Given the description of an element on the screen output the (x, y) to click on. 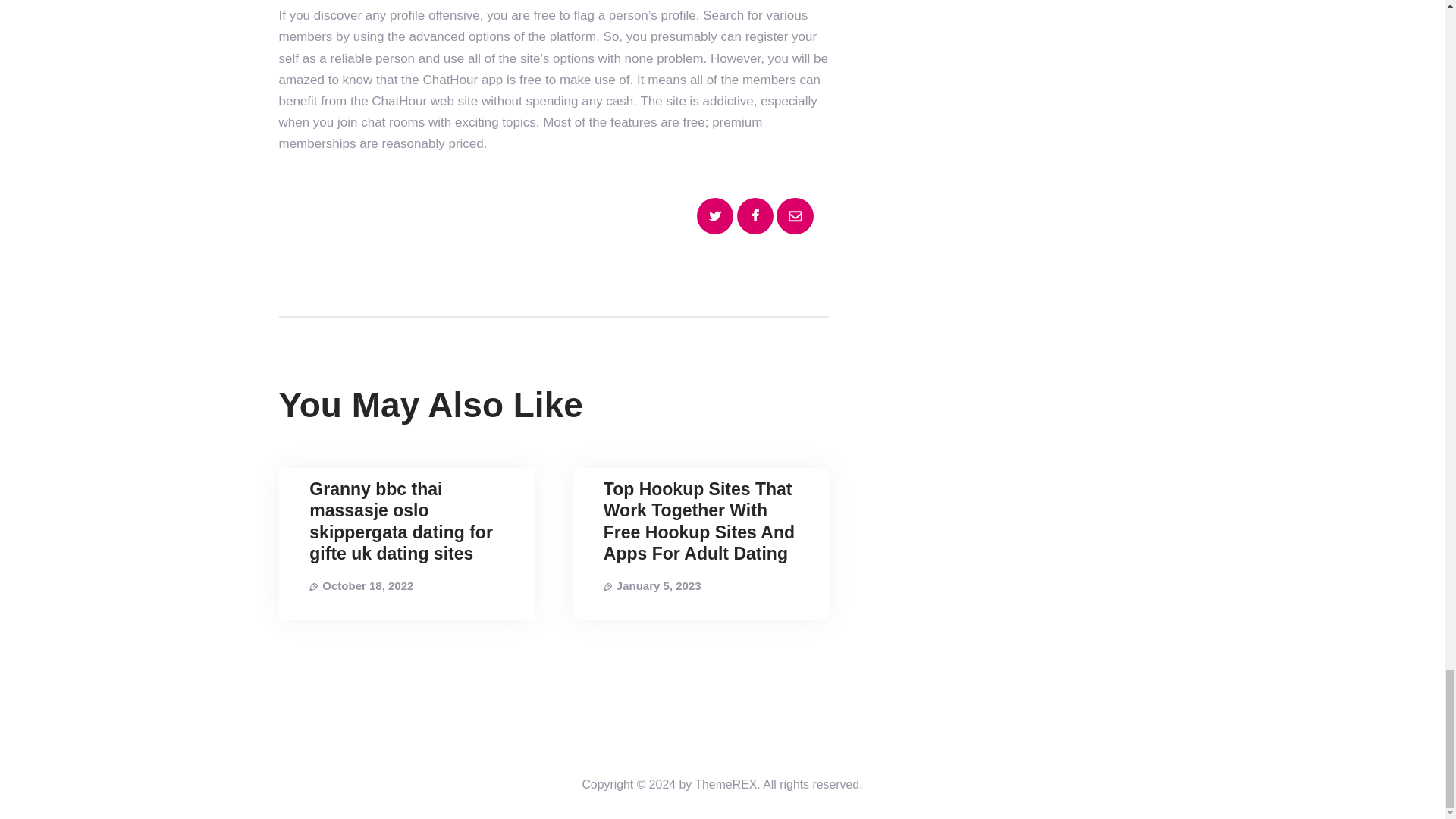
October 18, 2022 (367, 585)
January 5, 2023 (658, 585)
